Given the description of an element on the screen output the (x, y) to click on. 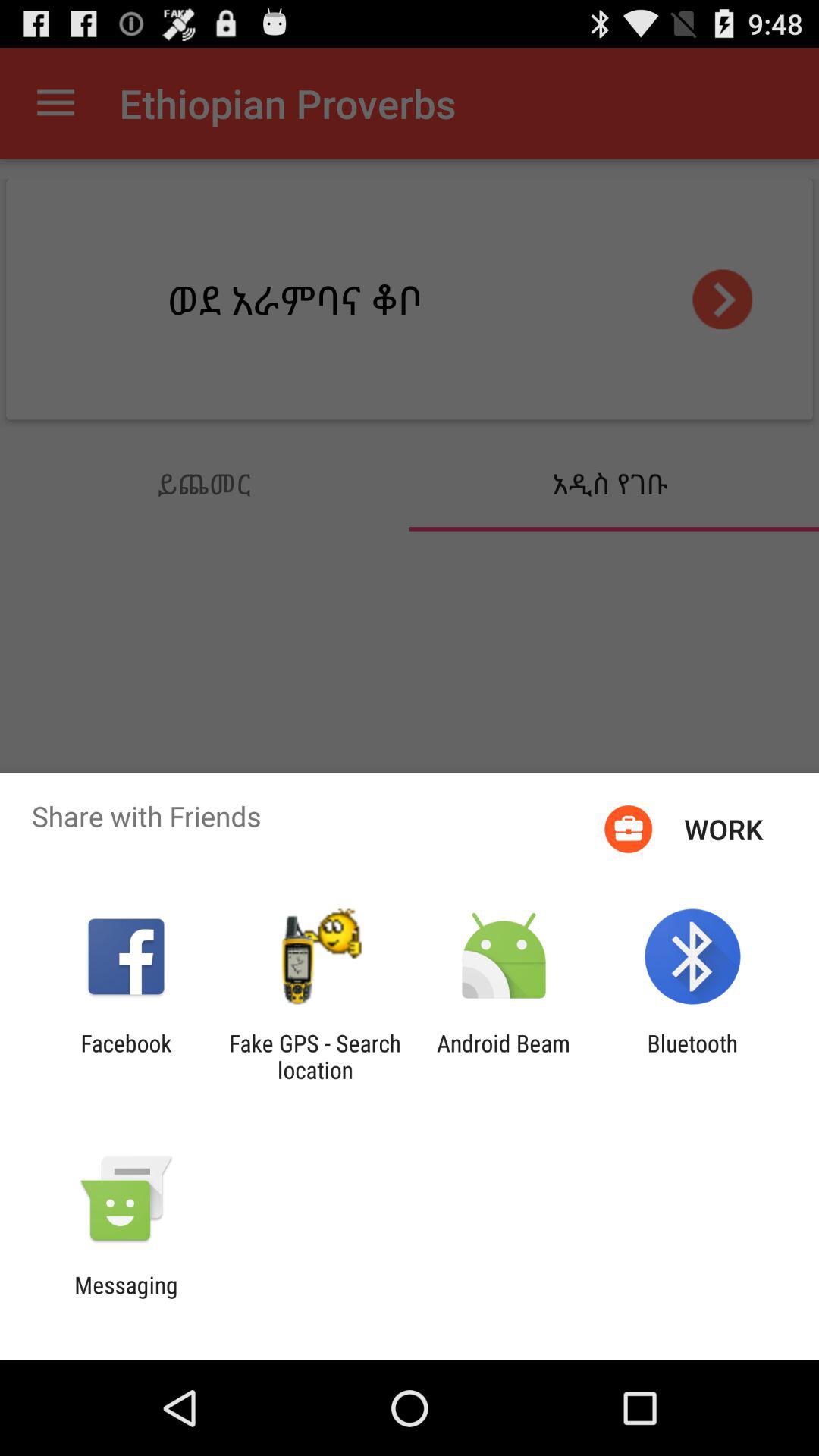
turn off app to the right of facebook item (314, 1056)
